Given the description of an element on the screen output the (x, y) to click on. 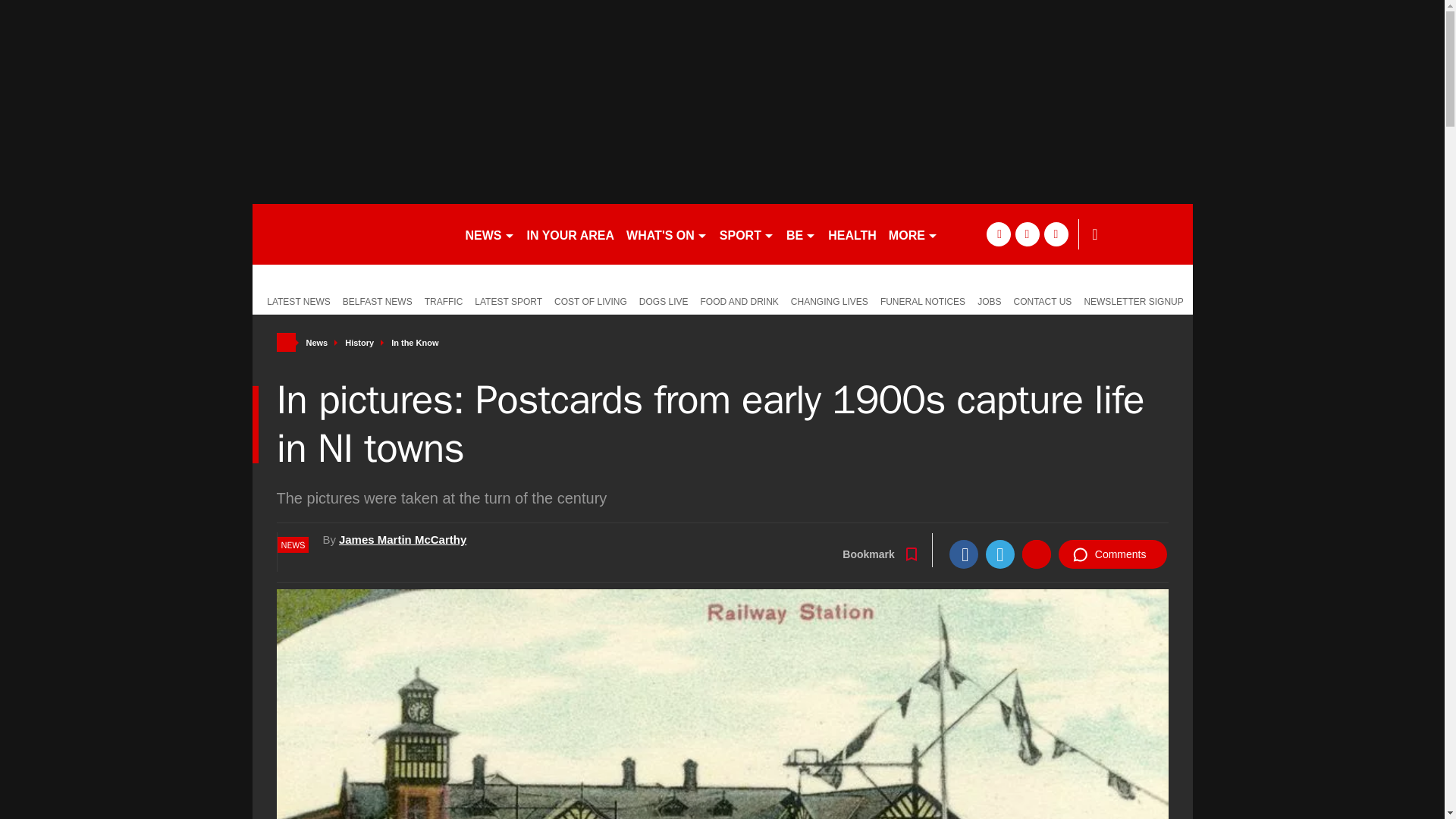
facebook (997, 233)
SPORT (746, 233)
Twitter (999, 553)
WHAT'S ON (666, 233)
instagram (1055, 233)
twitter (1026, 233)
IN YOUR AREA (569, 233)
Comments (1112, 553)
Facebook (963, 553)
NEWS (490, 233)
belfastlive (351, 233)
